Given the description of an element on the screen output the (x, y) to click on. 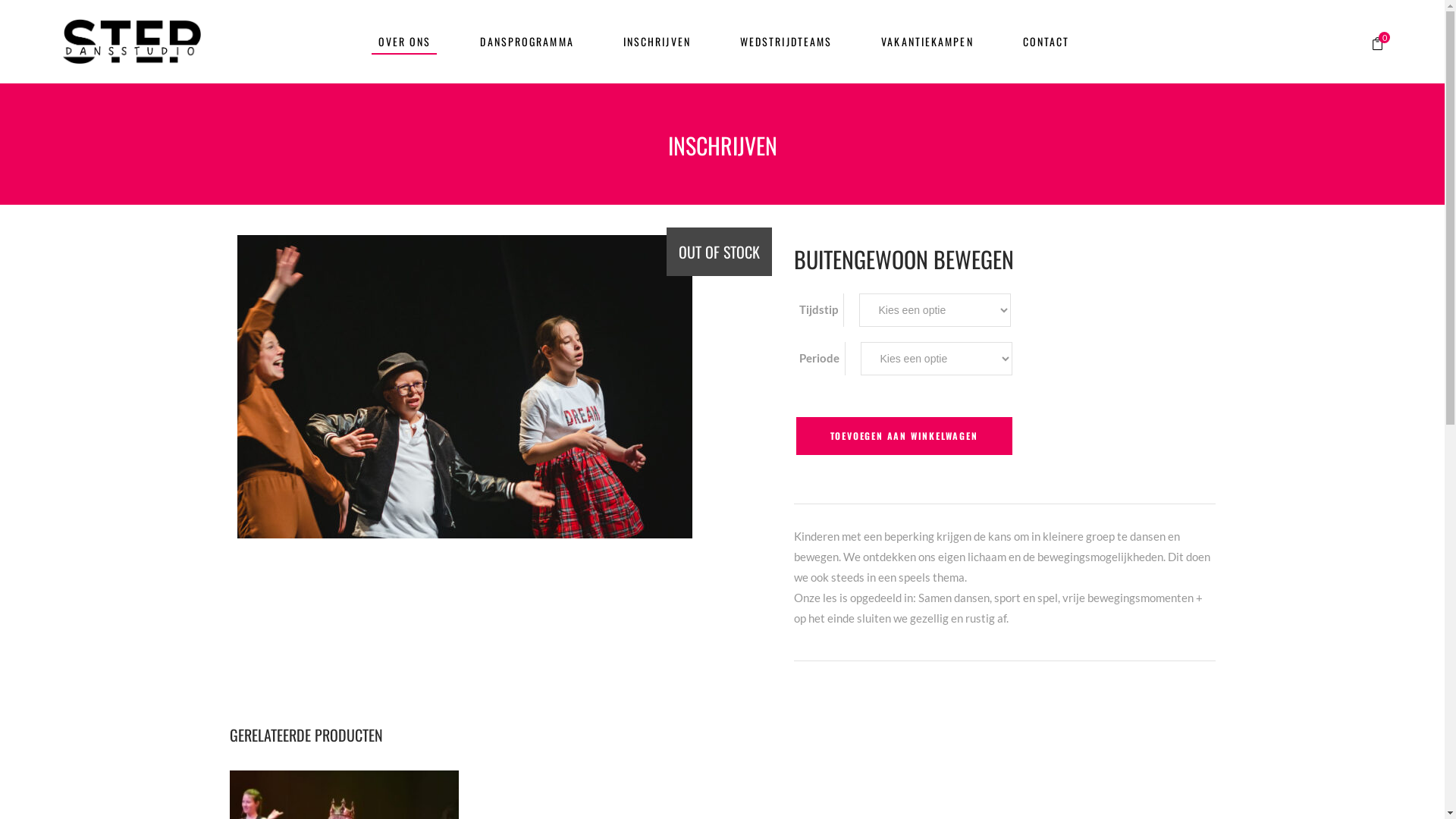
TOEVOEGEN AAN WINKELWAGEN Element type: text (904, 436)
OVER ONS Element type: text (404, 41)
CONTACT Element type: text (1045, 41)
DANSPROGRAMMA Element type: text (526, 41)
0 Element type: text (1377, 41)
INSCHRIJVEN Element type: text (656, 41)
WEDSTRIJDTEAMS Element type: text (785, 41)
VAKANTIEKAMPEN Element type: text (926, 41)
